Given the description of an element on the screen output the (x, y) to click on. 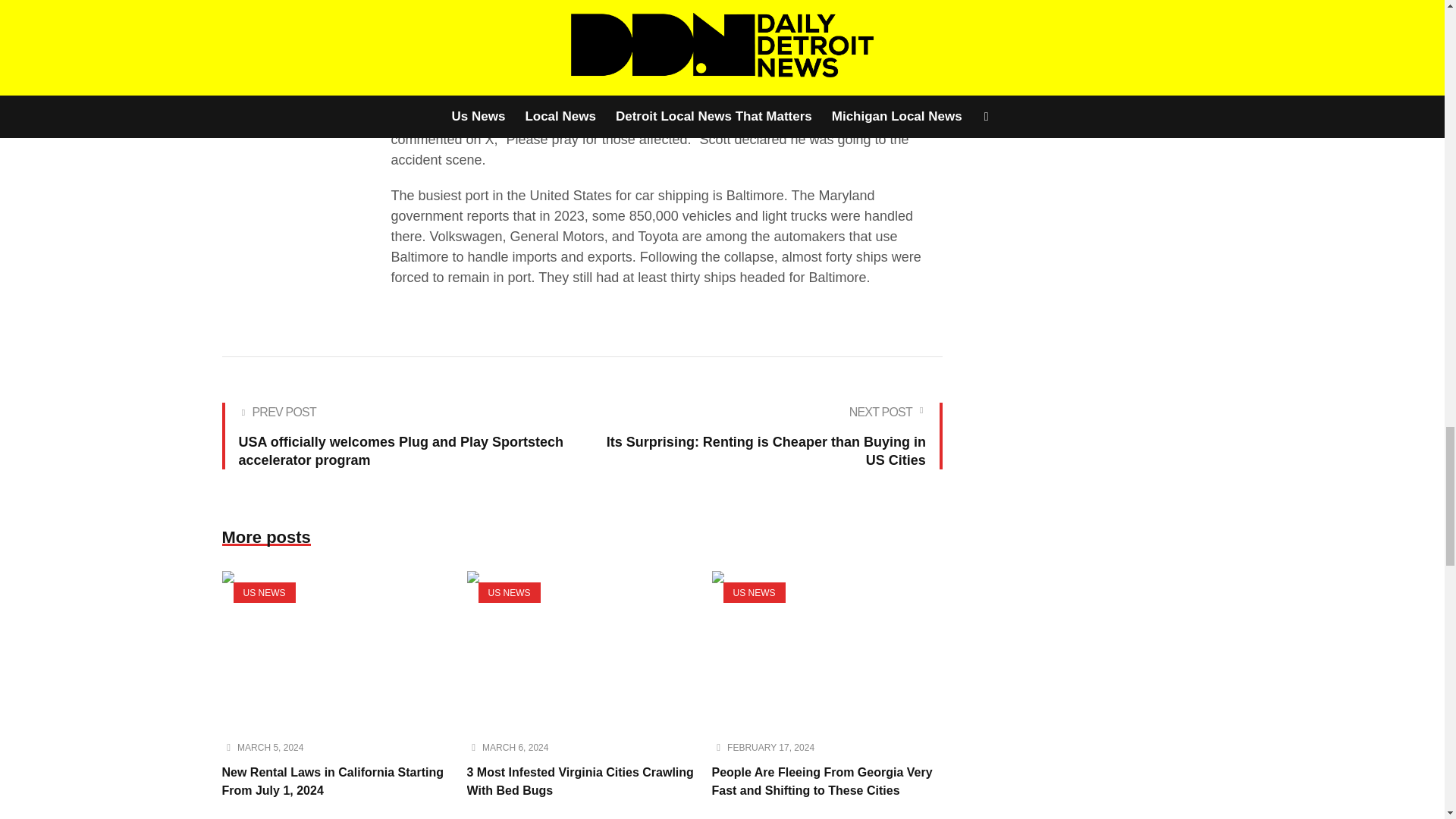
Its Surprising: Renting is Cheaper than Buying in US Cities (765, 435)
New Rental Laws in California Starting From July 1, 2024 (332, 780)
March 5, 2024 (269, 747)
3 Most Infested Virginia Cities Crawling With Bed Bugs (580, 780)
US NEWS (263, 592)
US NEWS (754, 592)
New Rental Laws in California Starting From July 1, 2024 (336, 648)
US NEWS (508, 592)
